Given the description of an element on the screen output the (x, y) to click on. 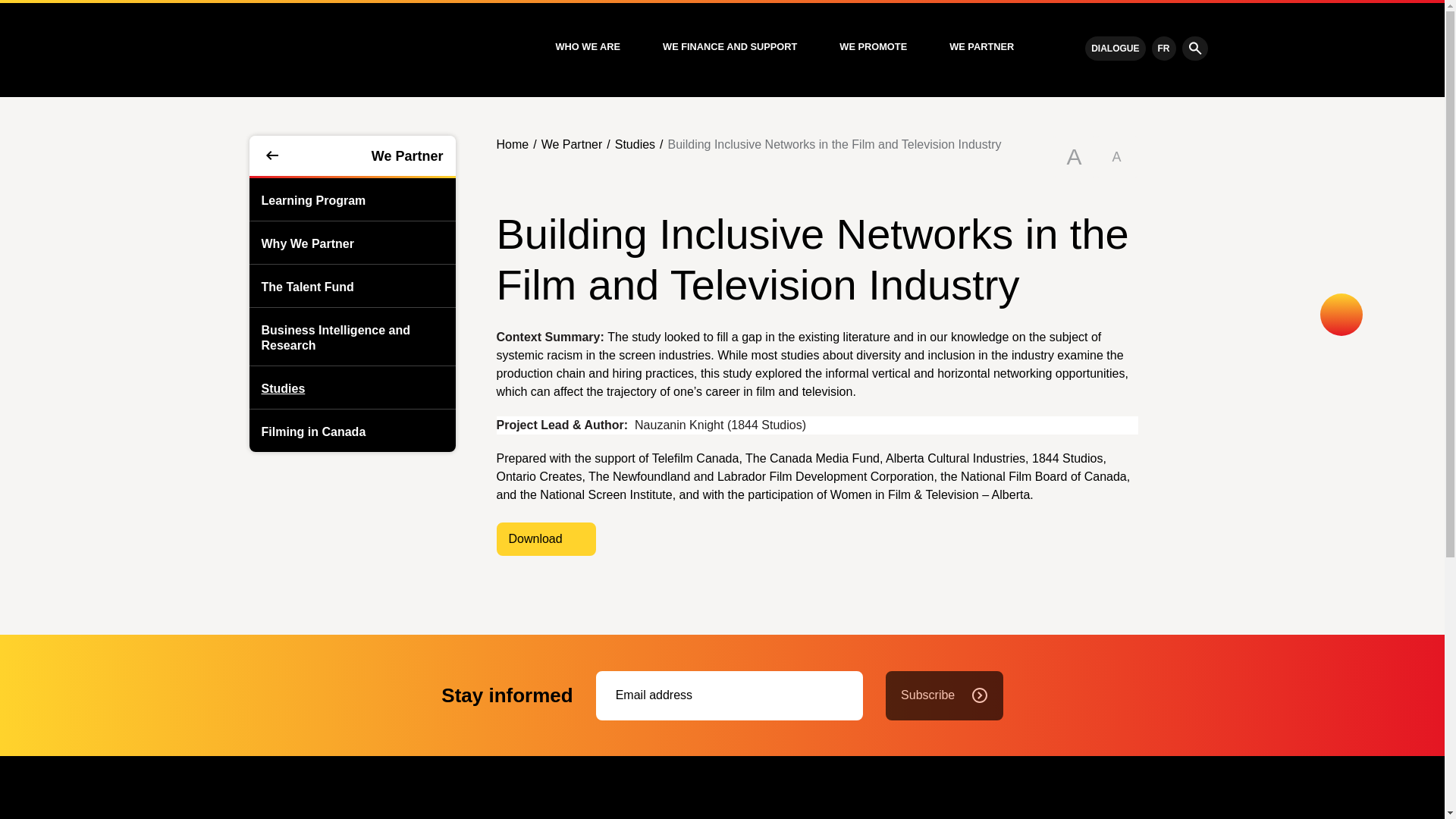
Decrease text size (1115, 156)
WHO WE ARE (587, 47)
Studies (276, 387)
Business Intelligence and Research (351, 336)
WE FINANCE AND SUPPORT (729, 47)
We Partner (351, 155)
Learning Program (306, 199)
The Talent Fund (300, 285)
Partager (1341, 314)
Increase text size (1073, 156)
Why We Partner (300, 242)
Filming in Canada (306, 430)
